Given the description of an element on the screen output the (x, y) to click on. 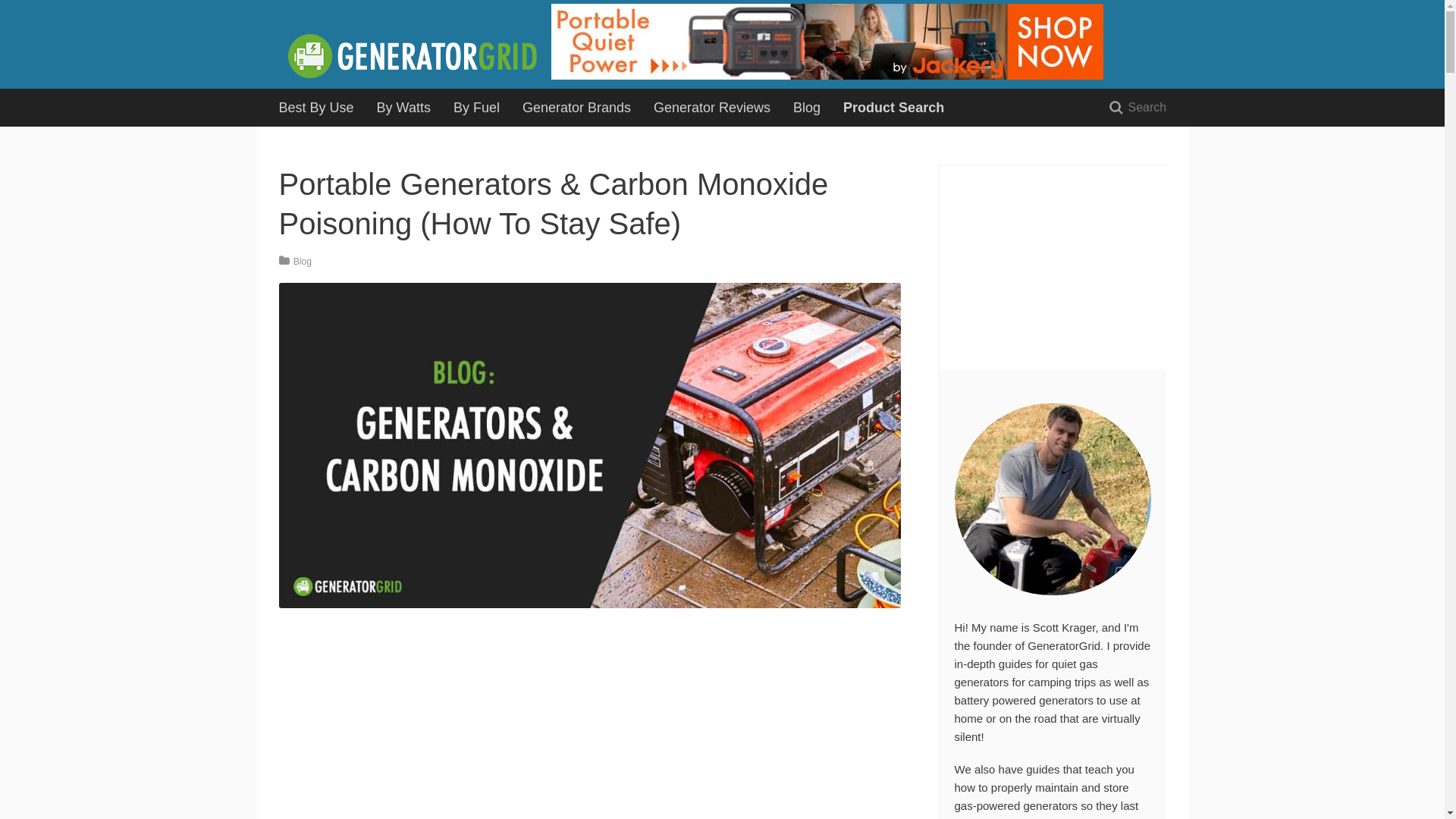
Best By Use (315, 107)
Find a generator (893, 107)
By Watts (403, 107)
Product Search (893, 107)
By Fuel (476, 107)
Generator Brands (576, 107)
Jackery portable power stations promotional banner (827, 78)
Blog (806, 107)
Generator Reviews (711, 107)
